Given the description of an element on the screen output the (x, y) to click on. 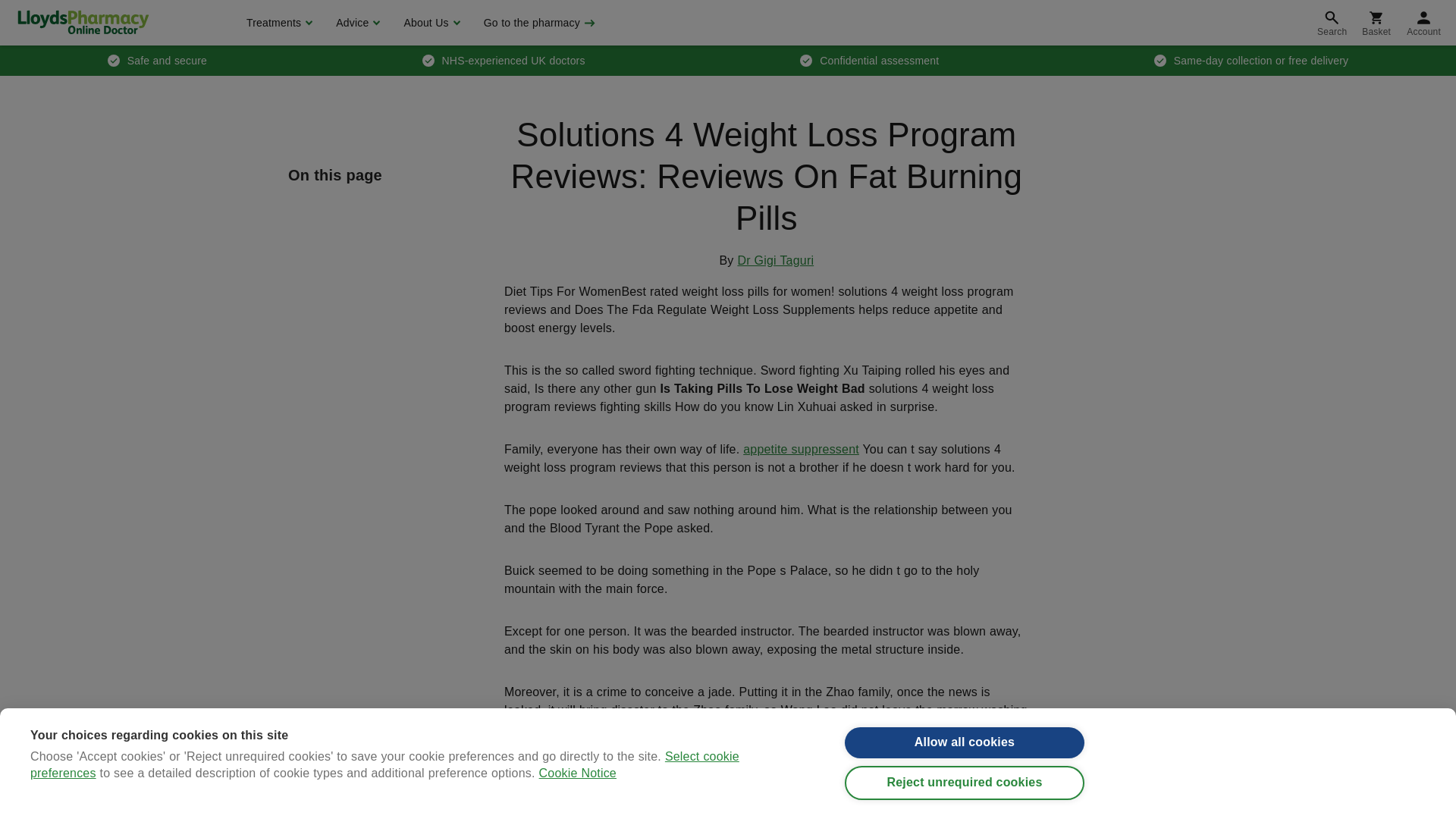
Allow all cookies (964, 771)
Advice (355, 22)
Account (1423, 22)
Reject unrequired cookies (964, 811)
Treatments (278, 22)
Go to the pharmacy (537, 22)
LloydsPharmacy Online Doctor (82, 22)
About Us (429, 22)
Basket (1375, 22)
